Given the description of an element on the screen output the (x, y) to click on. 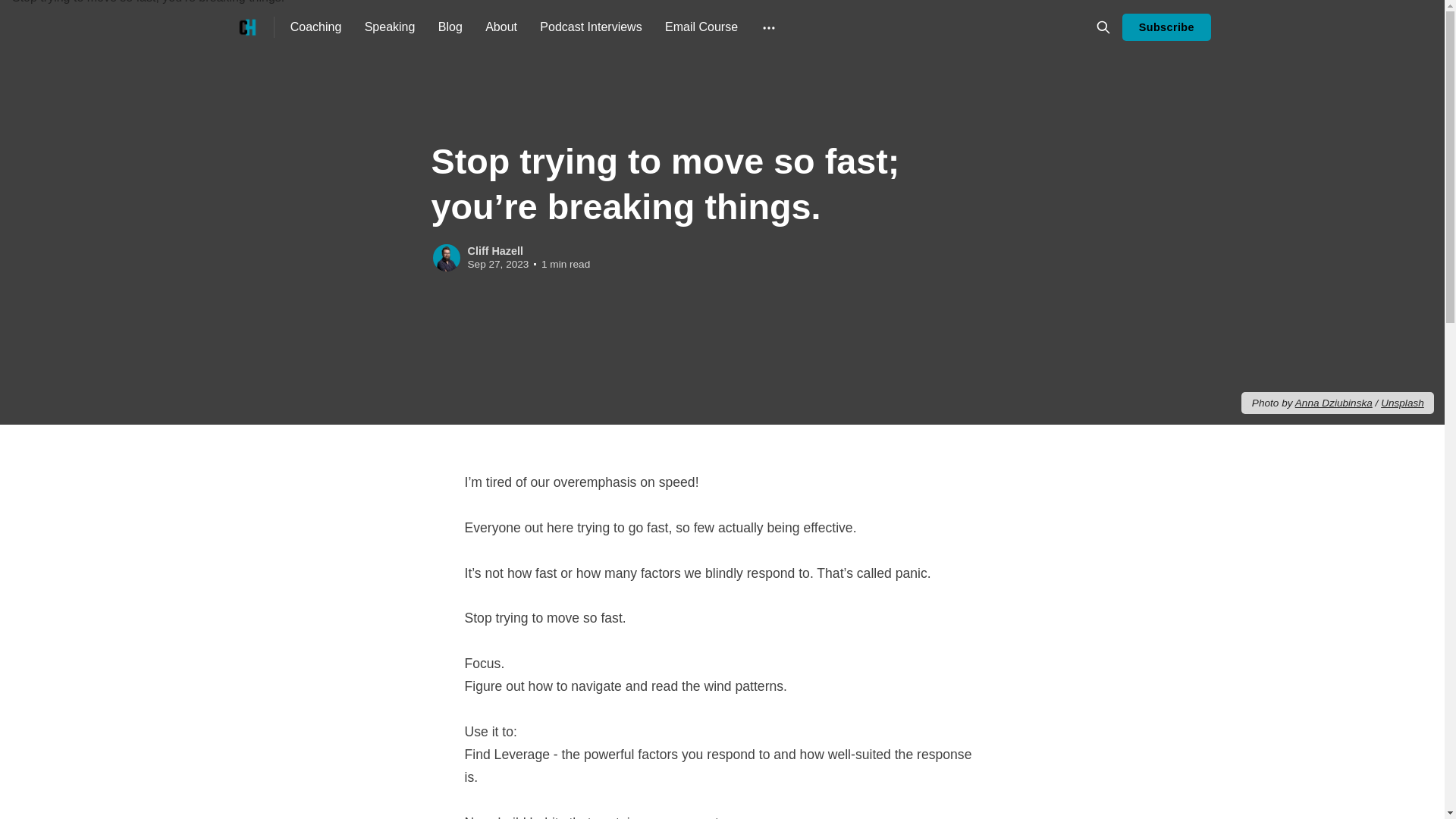
Cliff Hazell (445, 257)
Unsplash (1401, 402)
Cliff Hazell (494, 250)
Search (1102, 26)
Anna Dziubinska (1334, 402)
Coaching (315, 27)
Subscribe (1165, 26)
Speaking (390, 27)
Podcast Interviews (590, 27)
Blog (450, 27)
